Given the description of an element on the screen output the (x, y) to click on. 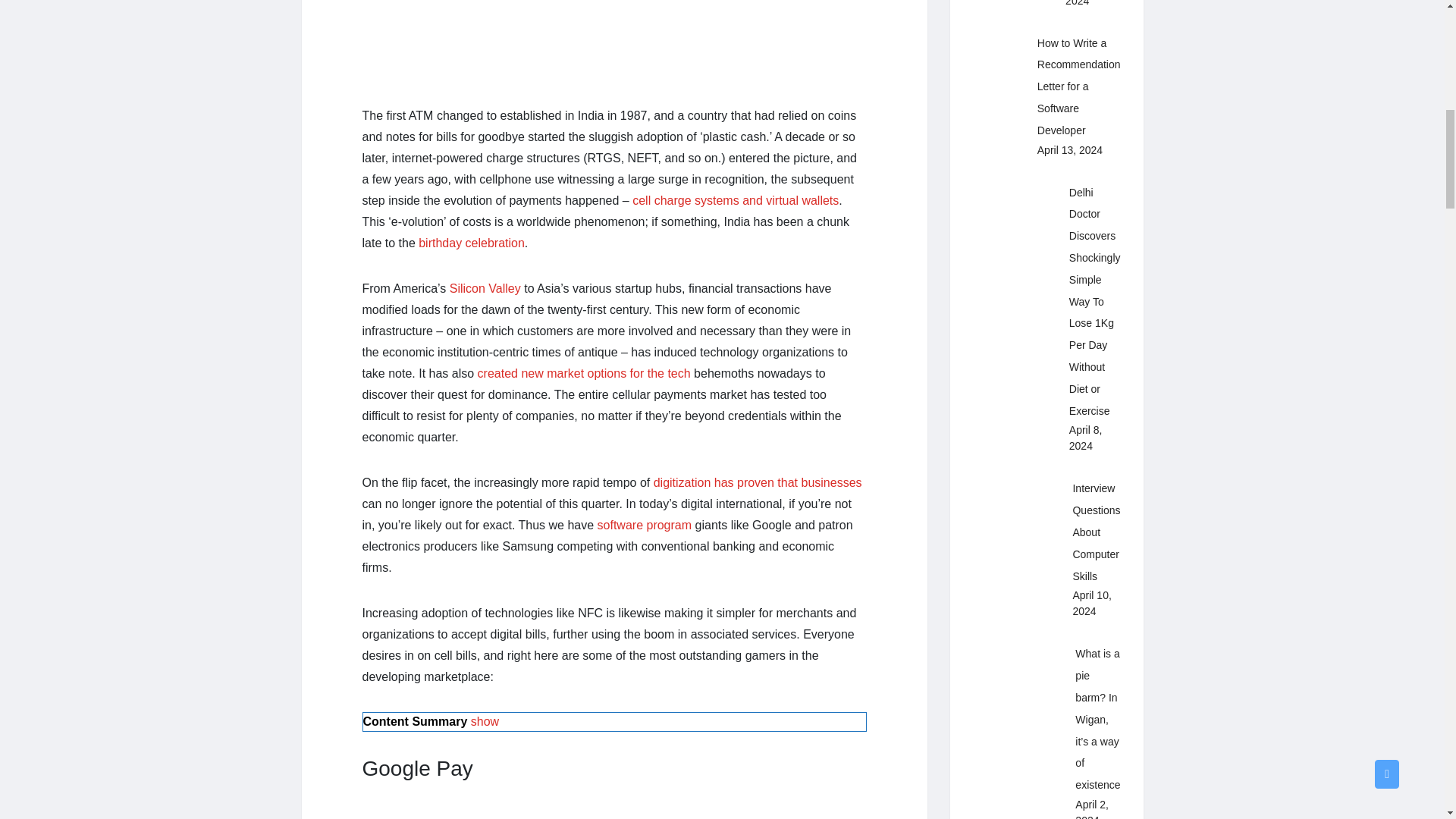
Advertisement (614, 40)
7 major leading apps and platforms helping money go mobile 2 (614, 812)
